Given the description of an element on the screen output the (x, y) to click on. 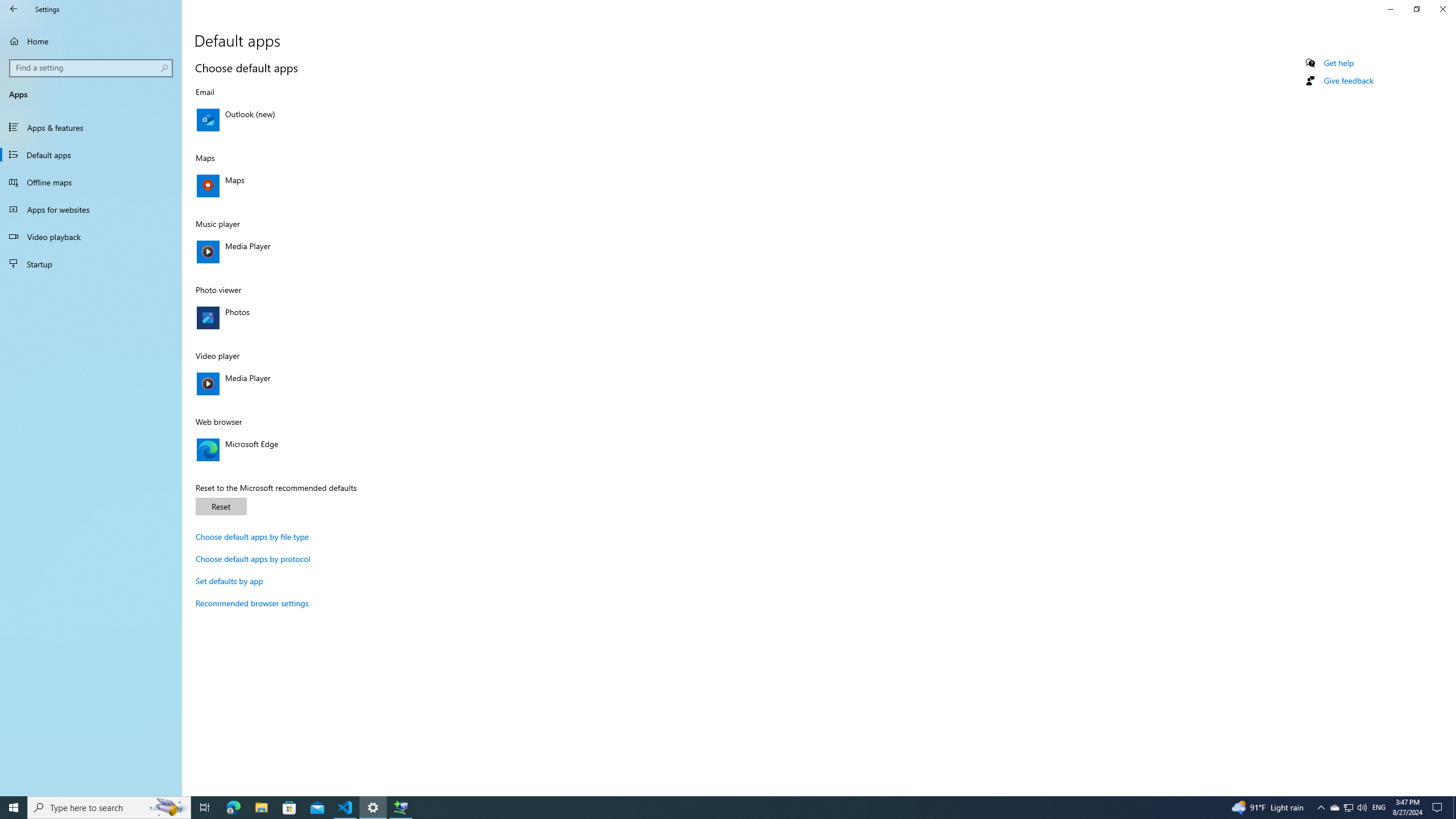
Extensible Wizards Host Process - 1 running window (400, 807)
Running applications (706, 807)
Recommended browser settings (251, 602)
Settings - 1 running window (373, 807)
Restore Settings (1416, 9)
Search box, Find a setting (91, 67)
Video player, Media Player (314, 384)
Home (91, 40)
Default apps (91, 154)
